Given the description of an element on the screen output the (x, y) to click on. 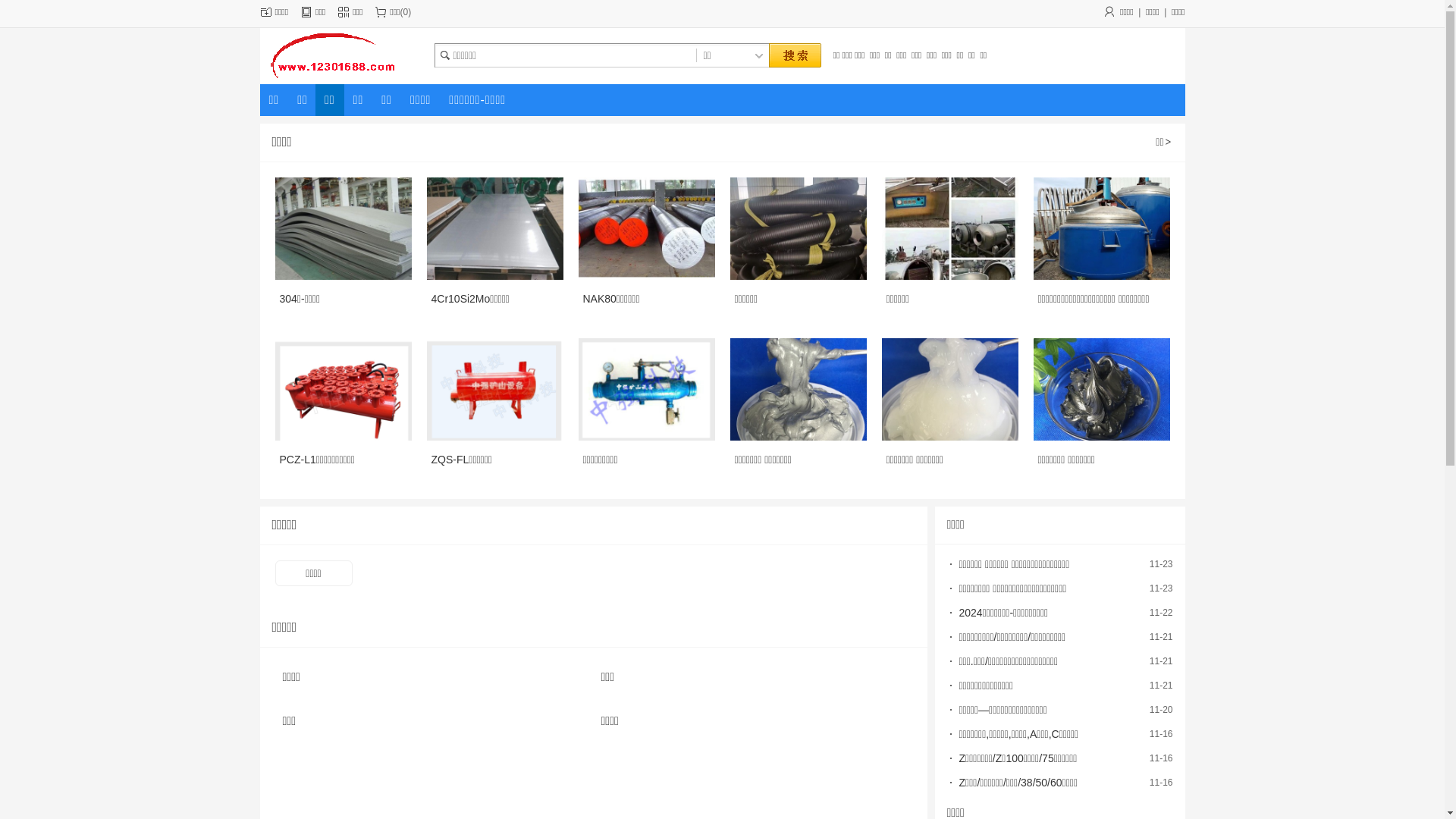
  Element type: text (793, 56)
